Given the description of an element on the screen output the (x, y) to click on. 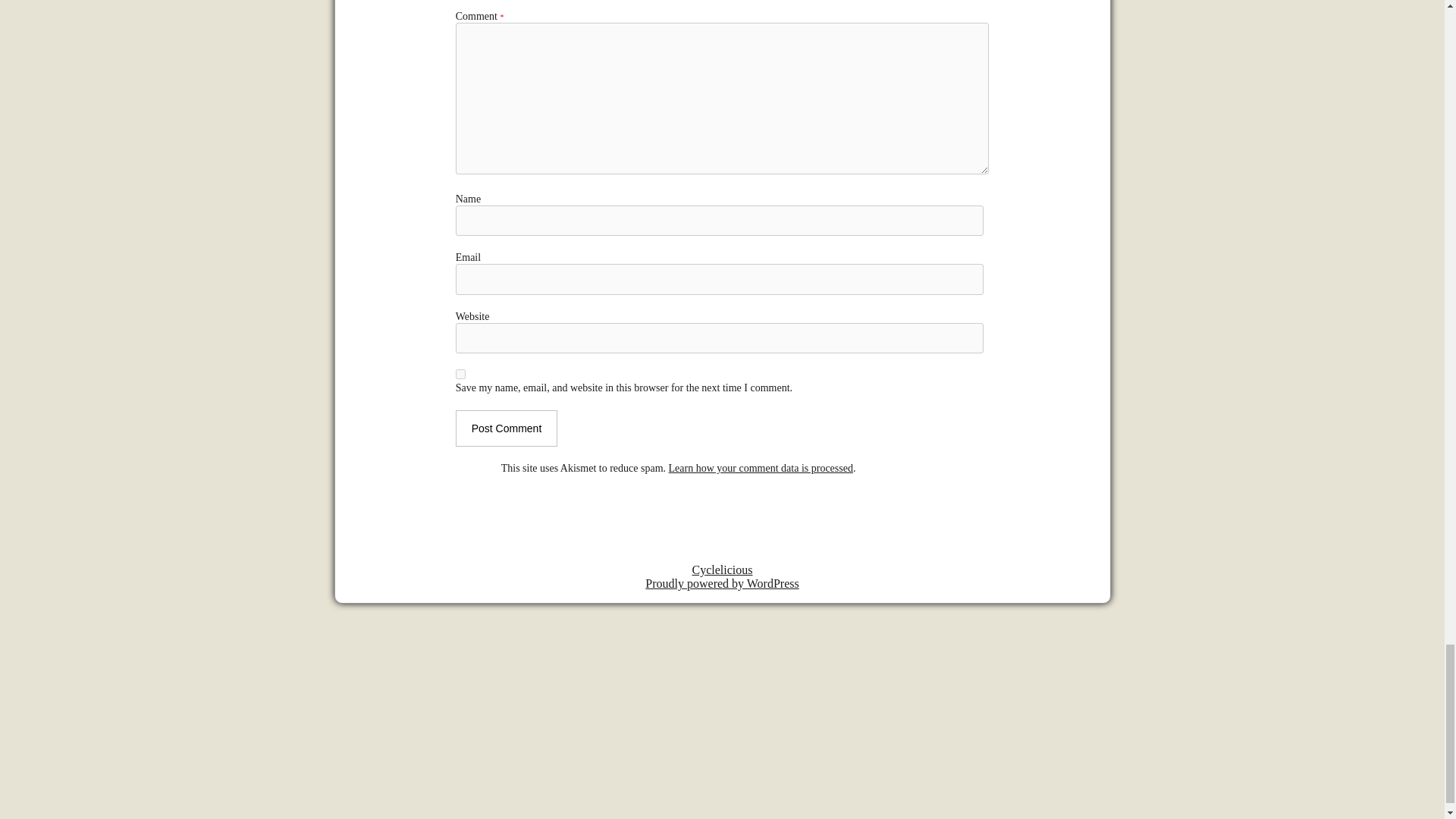
Post Comment (506, 428)
Post Comment (506, 428)
yes (460, 374)
